Given the description of an element on the screen output the (x, y) to click on. 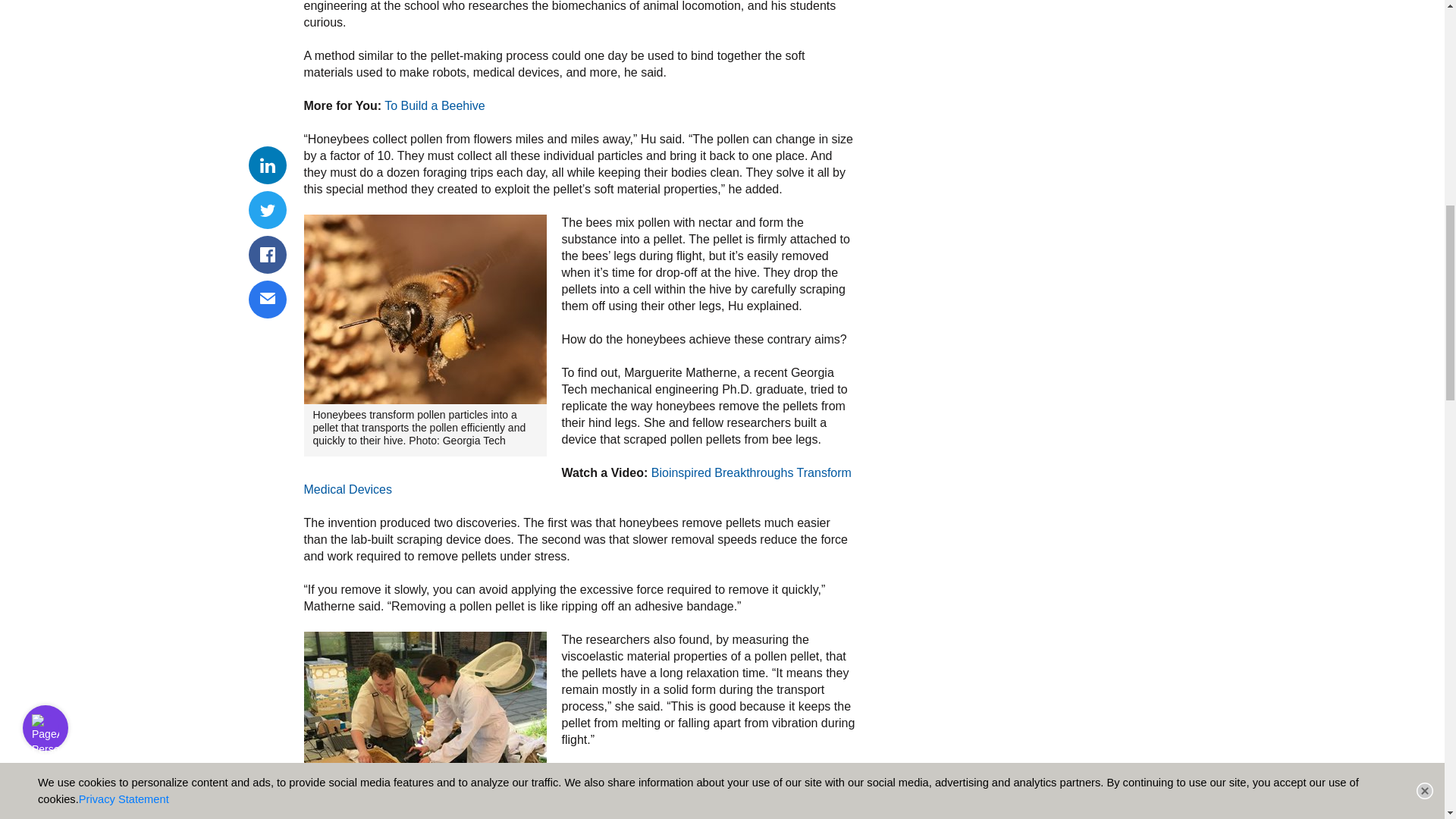
Bioinspired Breakthroughs Transform Medical Devices (576, 481)
To Build a Beehive (434, 105)
